Given the description of an element on the screen output the (x, y) to click on. 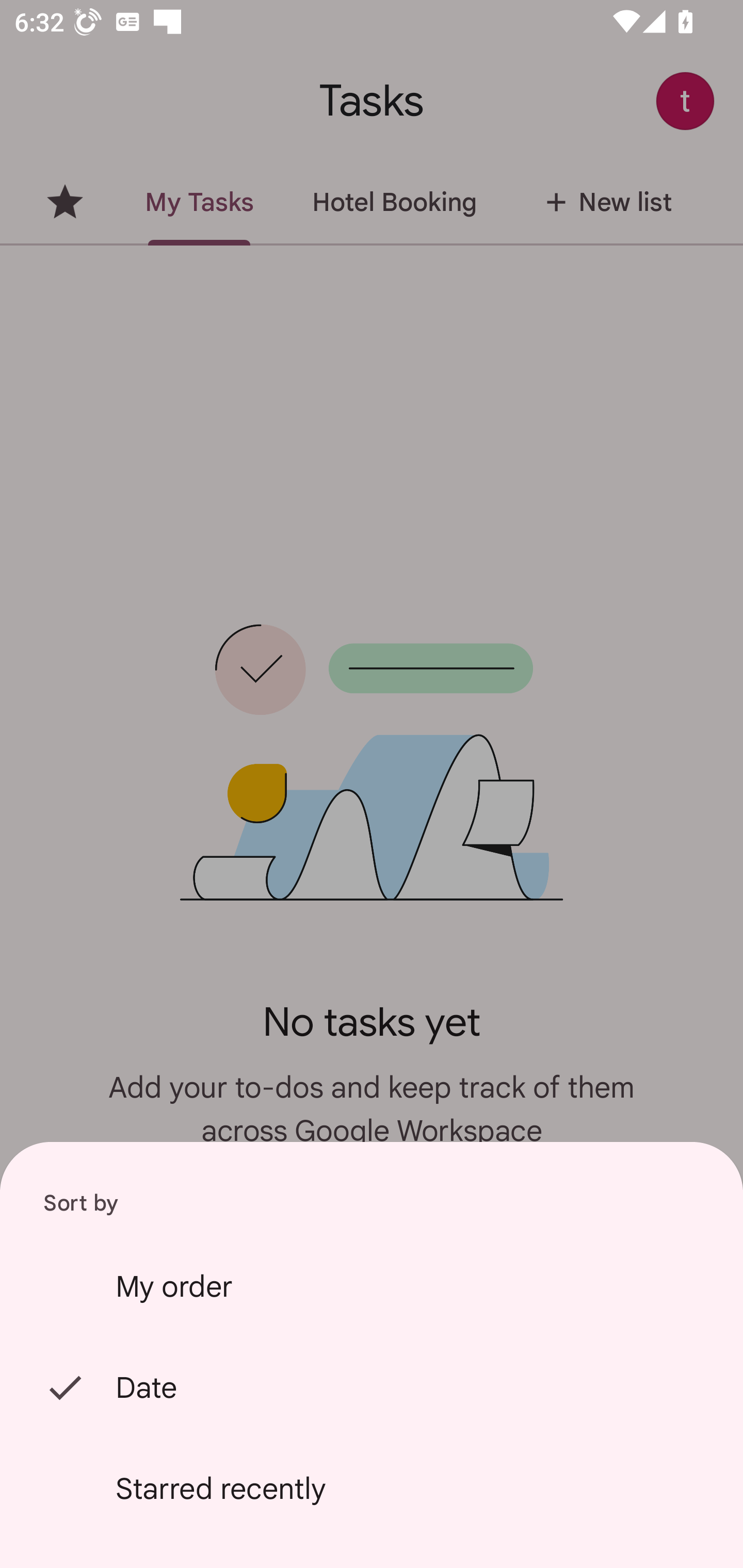
My order (371, 1286)
Date (371, 1387)
Starred recently (371, 1488)
